Given the description of an element on the screen output the (x, y) to click on. 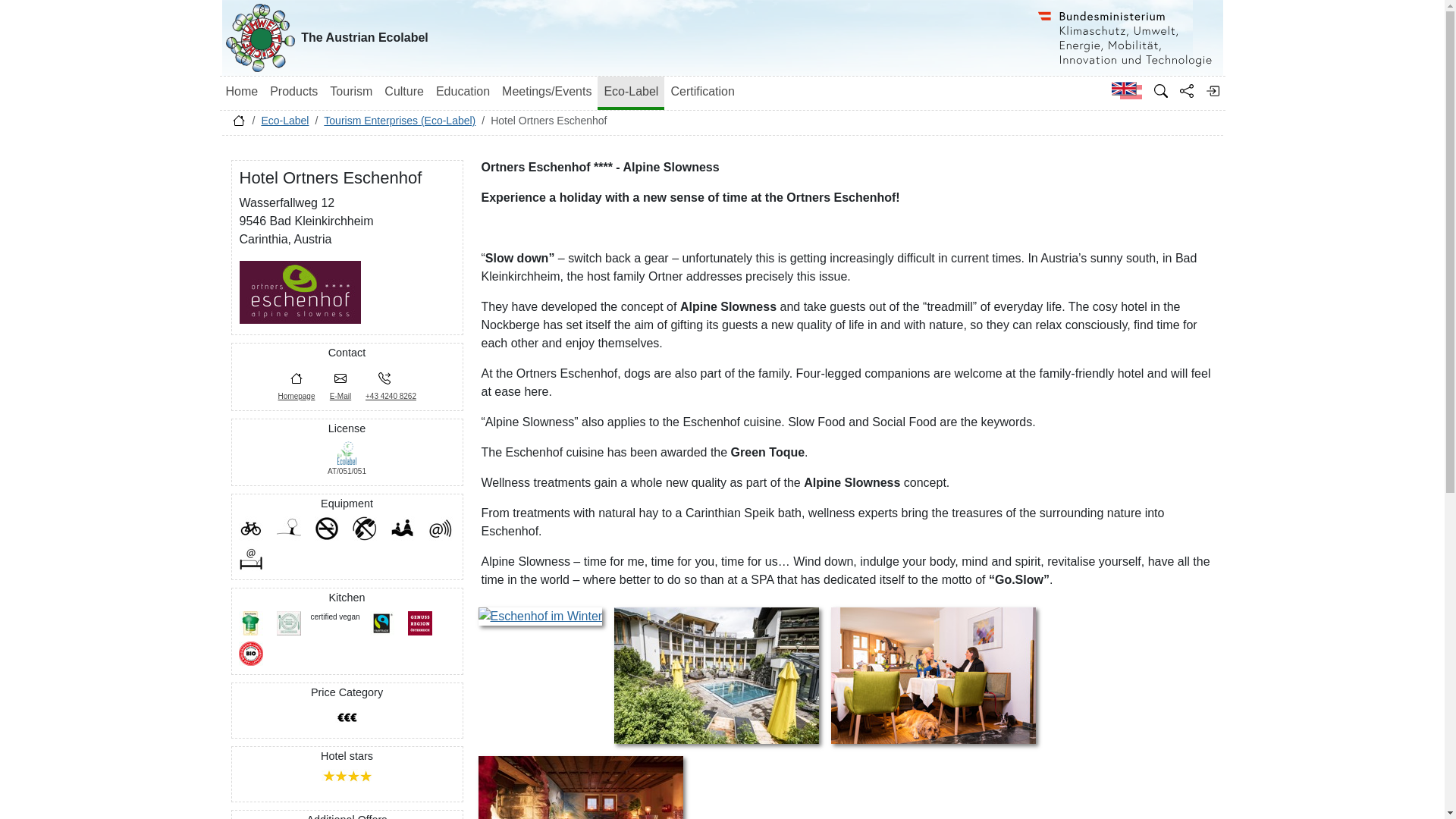
garden outside (287, 528)
quiet area (363, 528)
? (346, 776)
organic label (250, 653)
WIFI in rooms (250, 558)
Tourism (350, 91)
AMA-Gastro-label (287, 622)
Home (241, 91)
over 60 (346, 717)
Go to homepage (238, 123)
